Given the description of an element on the screen output the (x, y) to click on. 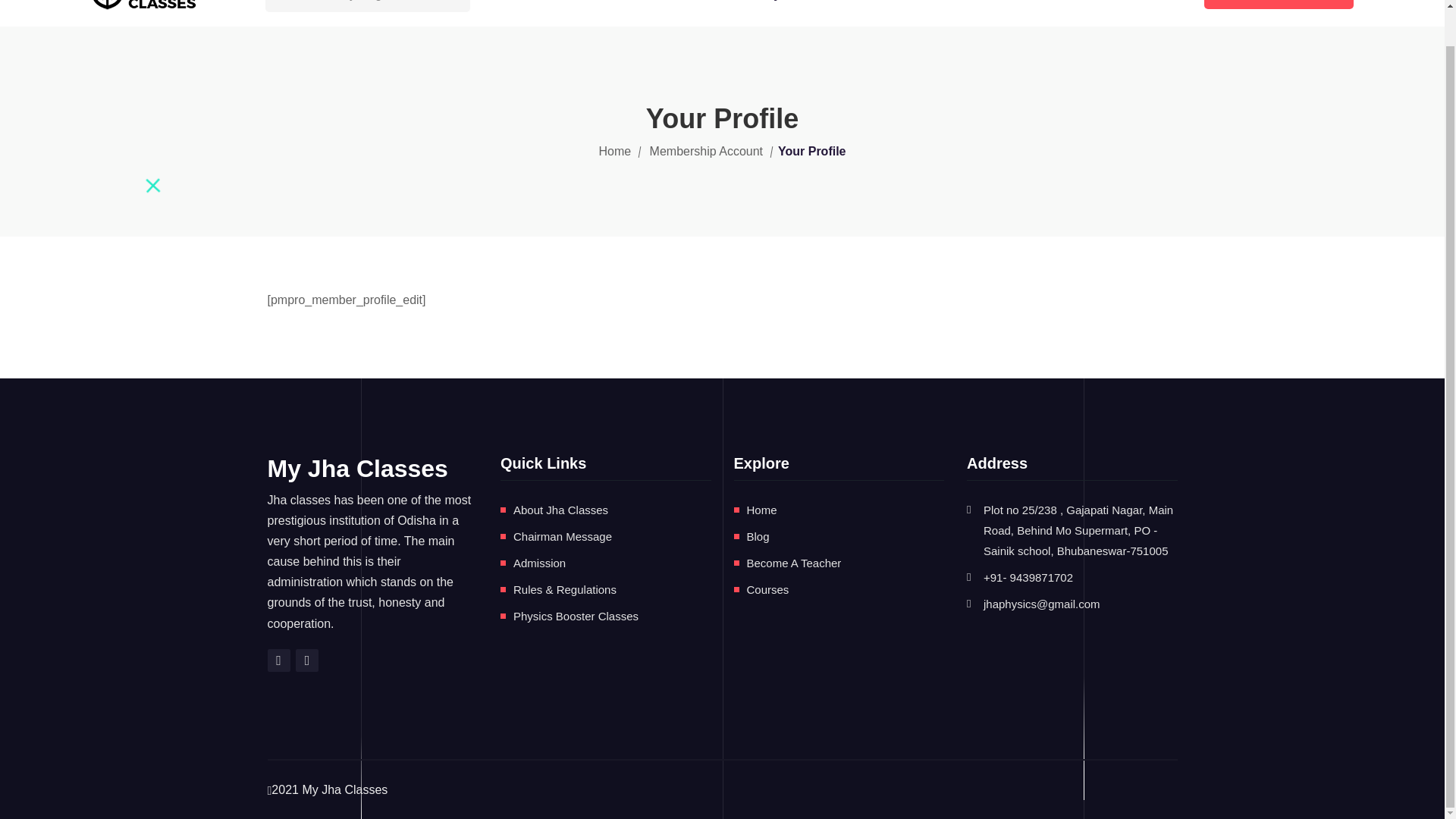
Fee Structure (1051, 11)
Contact Us (1150, 11)
Chairman Message (562, 535)
Contact Us (1150, 11)
About Jha Classes (560, 509)
Physics Booster Class (826, 11)
Home (595, 11)
Membership Account (705, 151)
Home (760, 509)
Membership Account (705, 151)
